Given the description of an element on the screen output the (x, y) to click on. 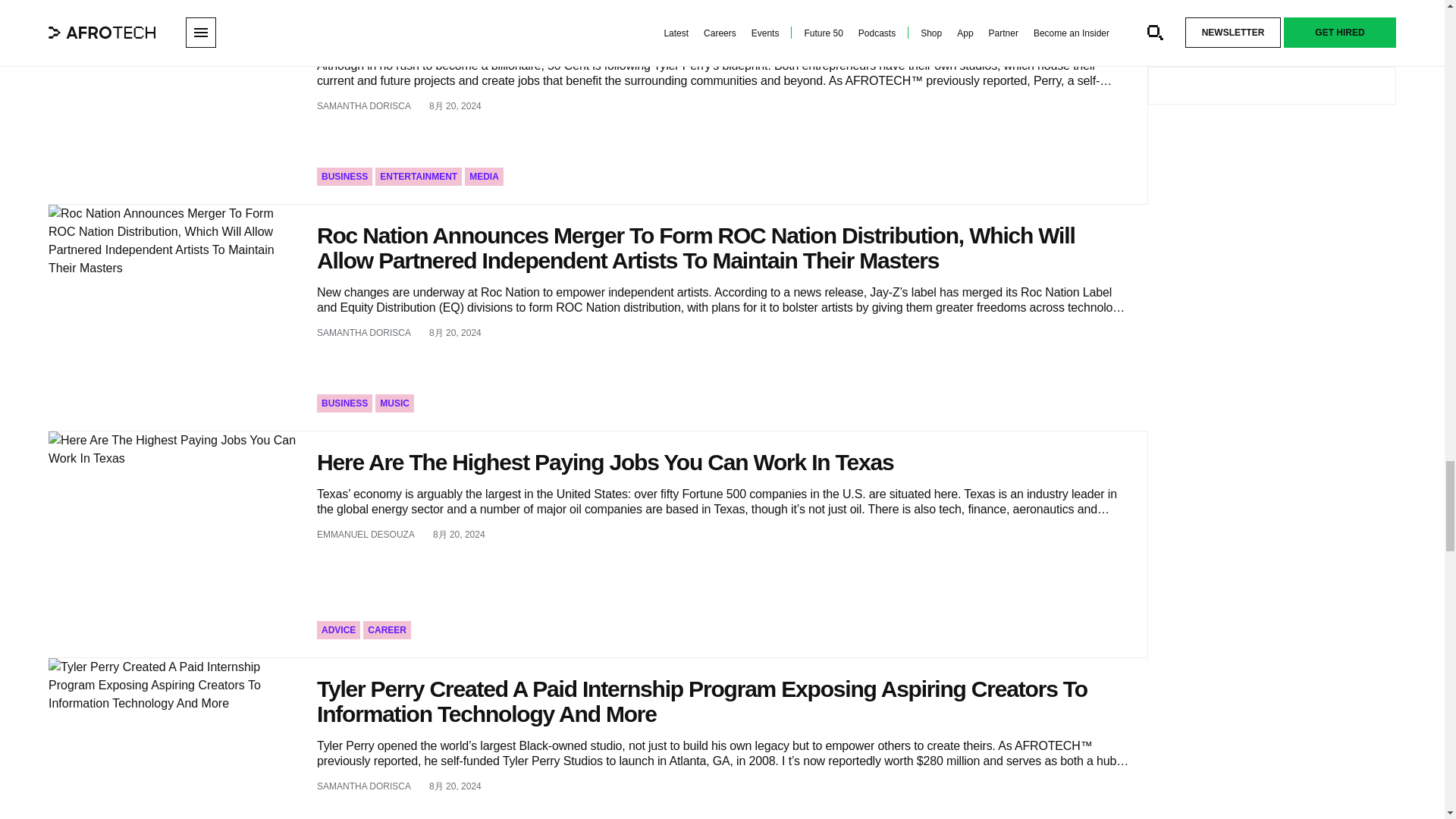
Here Are The Highest Paying Jobs You Can Work In Texas (173, 544)
